Given the description of an element on the screen output the (x, y) to click on. 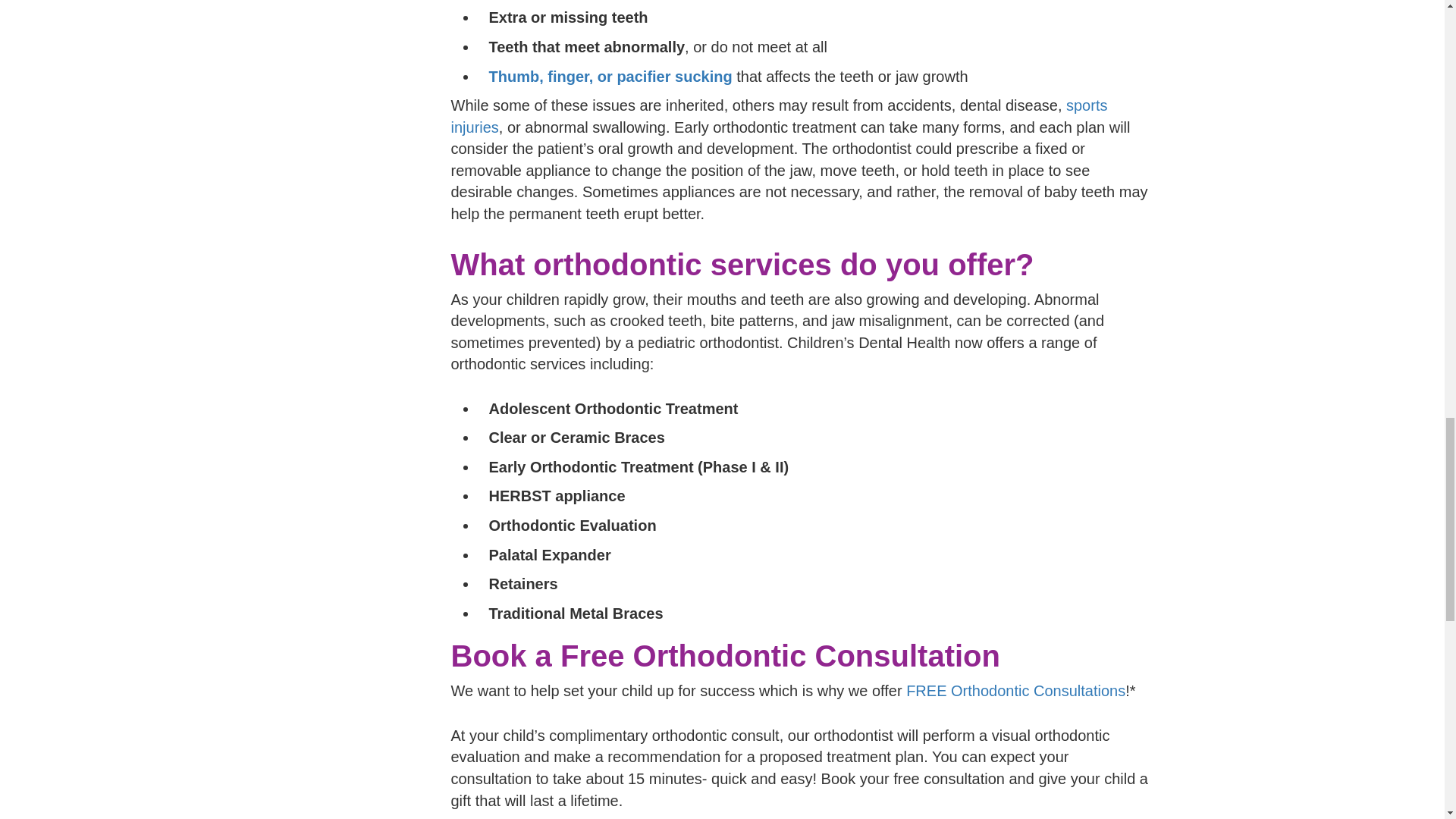
sports injuries (777, 116)
Thumb, finger, or pacifier sucking (609, 76)
FREE Orthodontic Consultations (1015, 690)
